Given the description of an element on the screen output the (x, y) to click on. 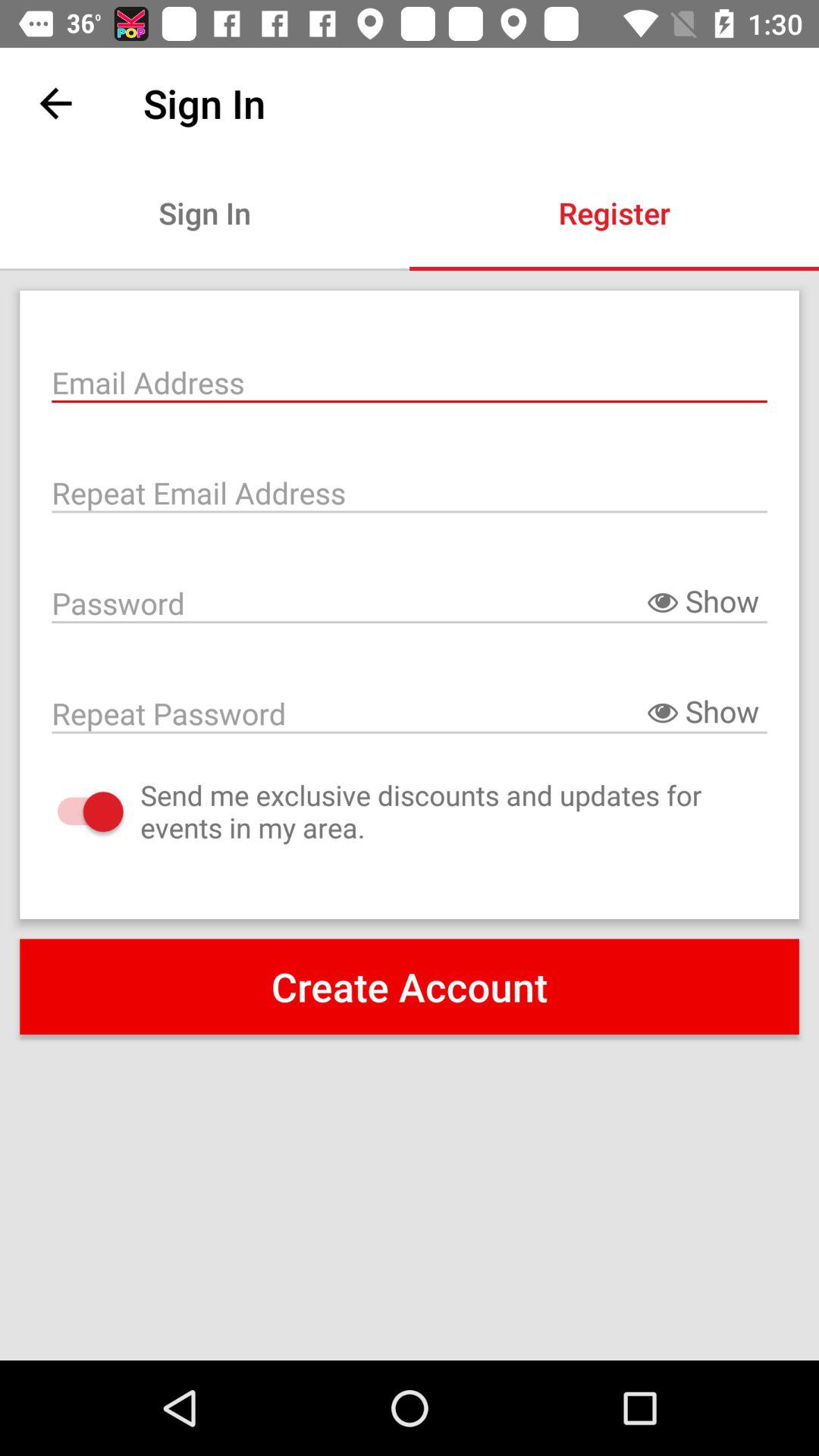
select the 1st text field on the page (409, 381)
